Given the description of an element on the screen output the (x, y) to click on. 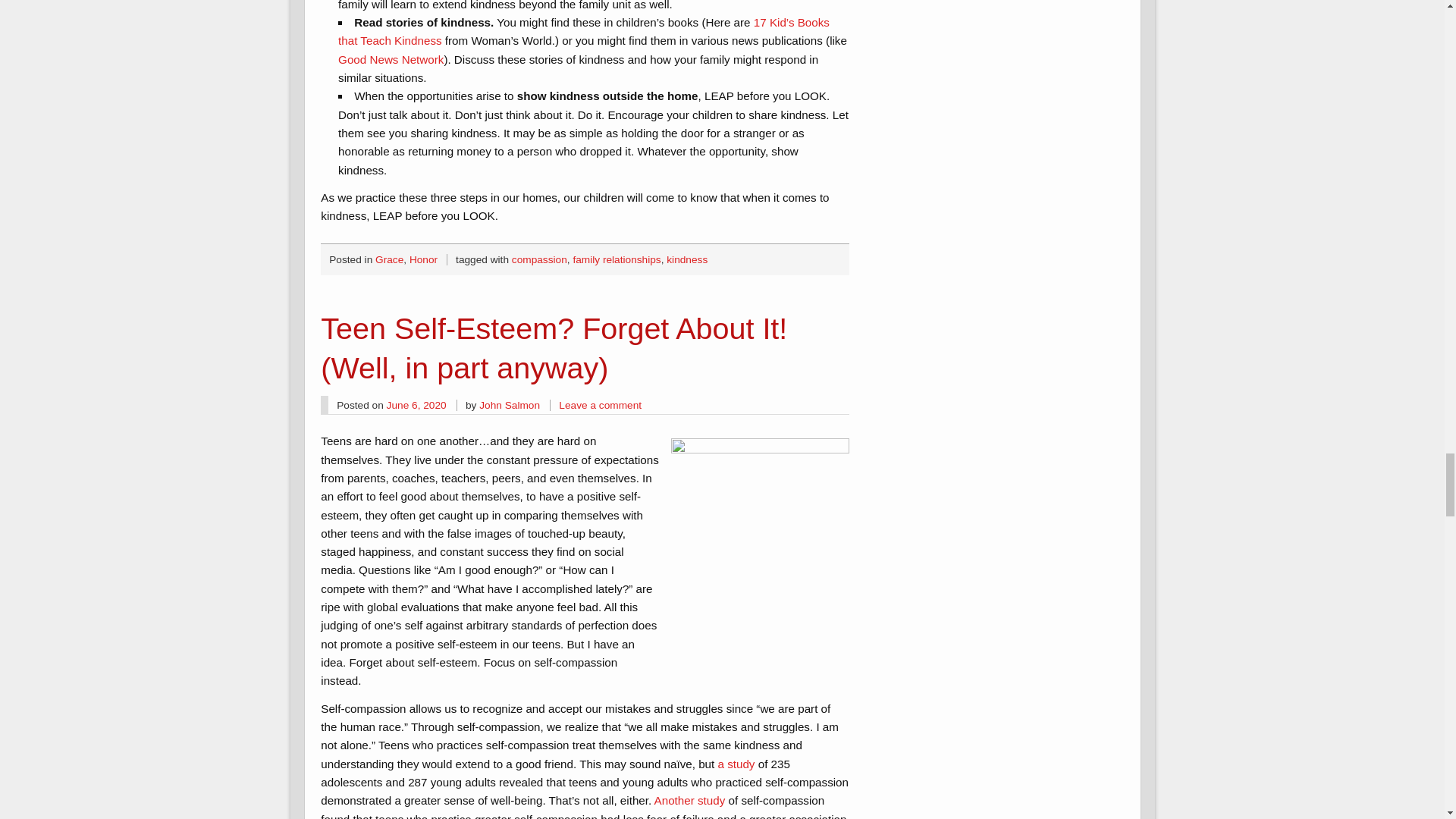
View all posts by John Salmon (509, 405)
7:54 pm (416, 405)
